Given the description of an element on the screen output the (x, y) to click on. 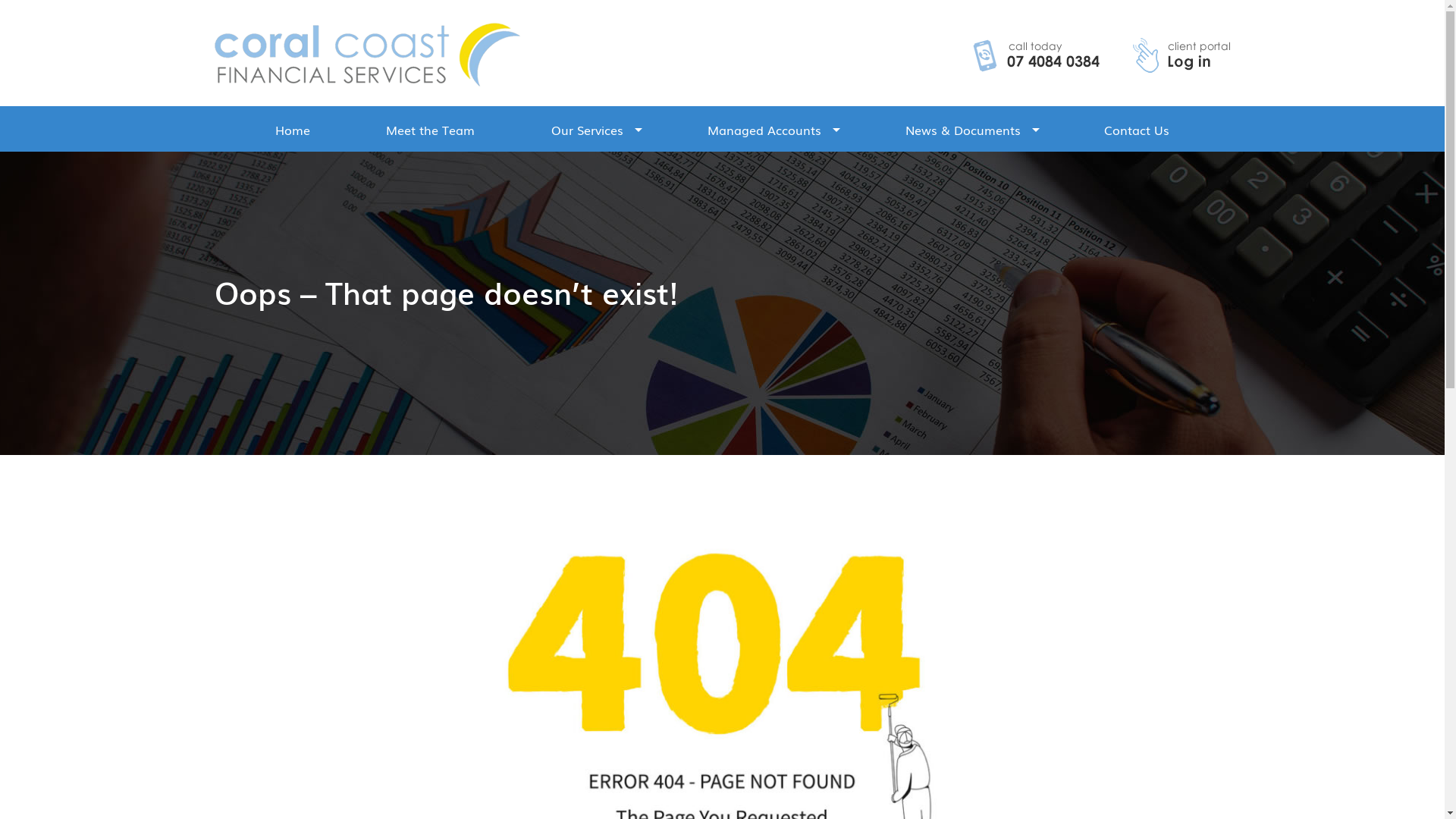
Meet the Team Element type: text (430, 128)
Contact Us Element type: text (1136, 128)
News & Documents Element type: text (962, 128)
Home Element type: text (291, 128)
Our Services Element type: text (587, 128)
Managed Accounts Element type: text (764, 128)
